Given the description of an element on the screen output the (x, y) to click on. 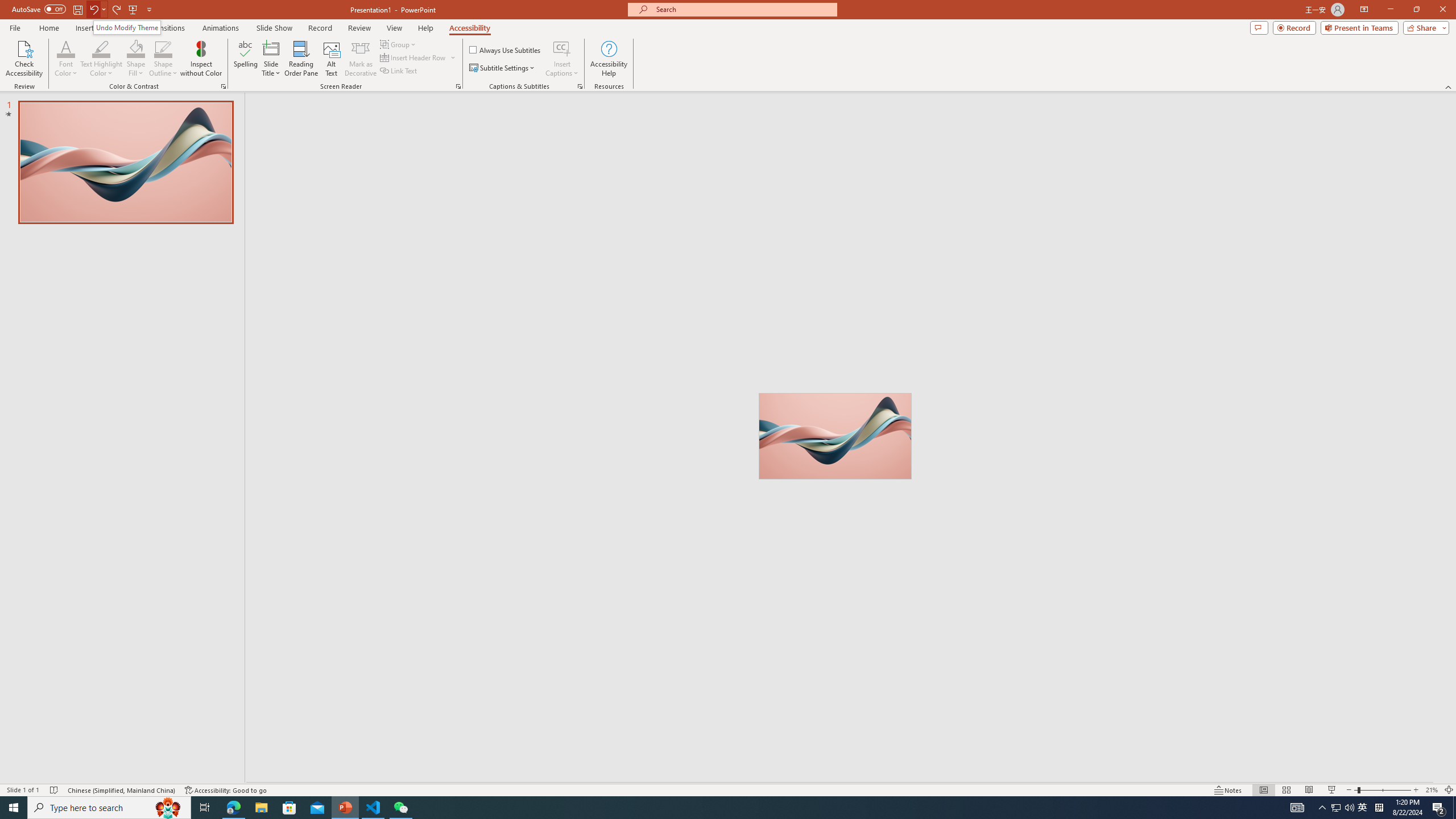
Shape Outline Blue, Accent 1 (163, 48)
Inspect without Color (201, 58)
Always Use Subtitles (505, 49)
Captions & Subtitles (580, 85)
Color & Contrast (223, 85)
Group (398, 44)
